Given the description of an element on the screen output the (x, y) to click on. 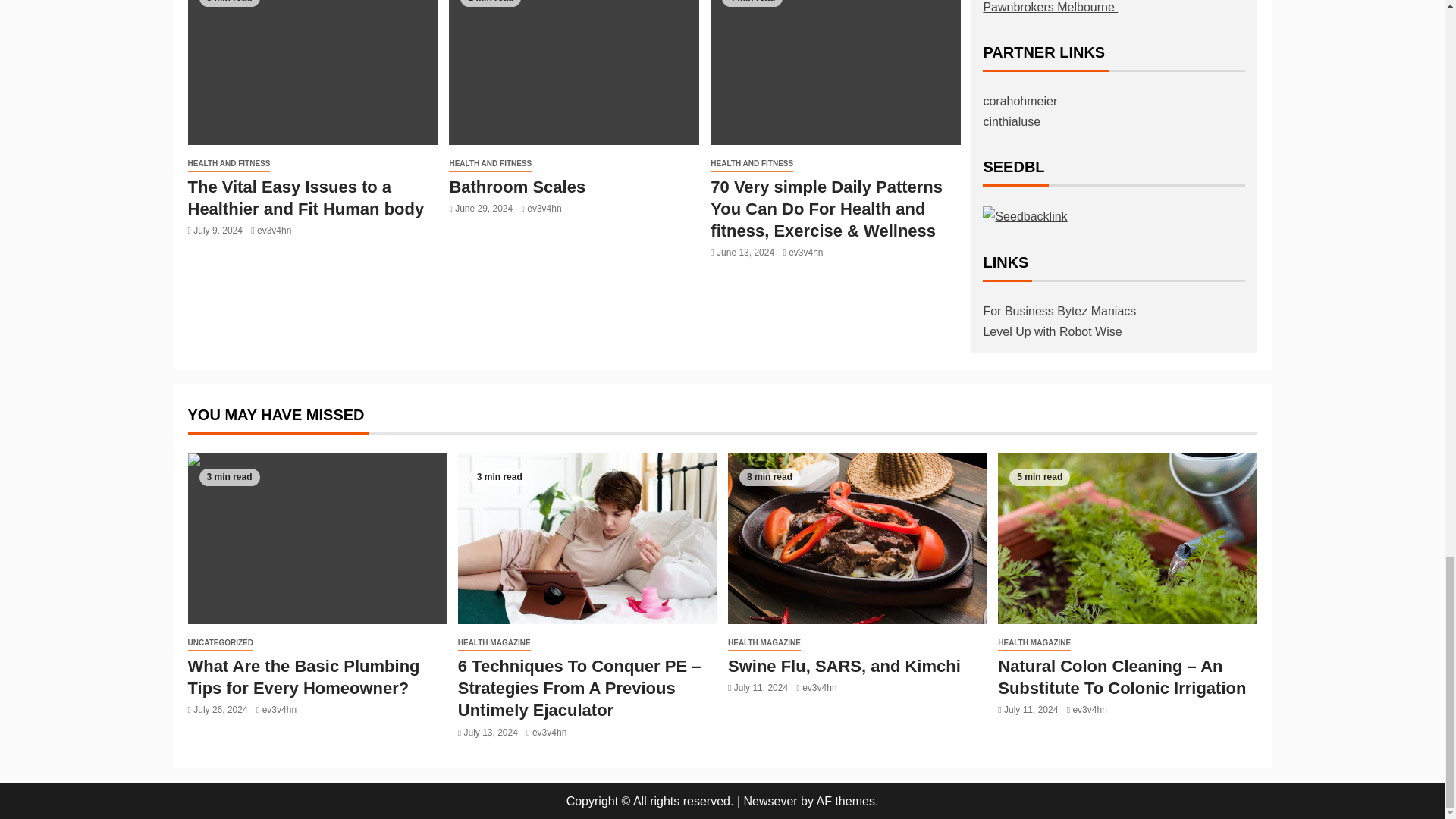
The Vital Easy Issues to a Healthier and Fit Human body (312, 72)
The Vital Easy Issues to a Healthier and Fit Human body (306, 197)
Bathroom Scales (516, 186)
What Are the Basic Plumbing Tips for Every Homeowner? (316, 538)
Swine Flu, SARS, and Kimchi (857, 538)
Seedbacklink (1024, 216)
HEALTH AND FITNESS (489, 163)
HEALTH AND FITNESS (228, 163)
ev3v4hn (274, 230)
